Given the description of an element on the screen output the (x, y) to click on. 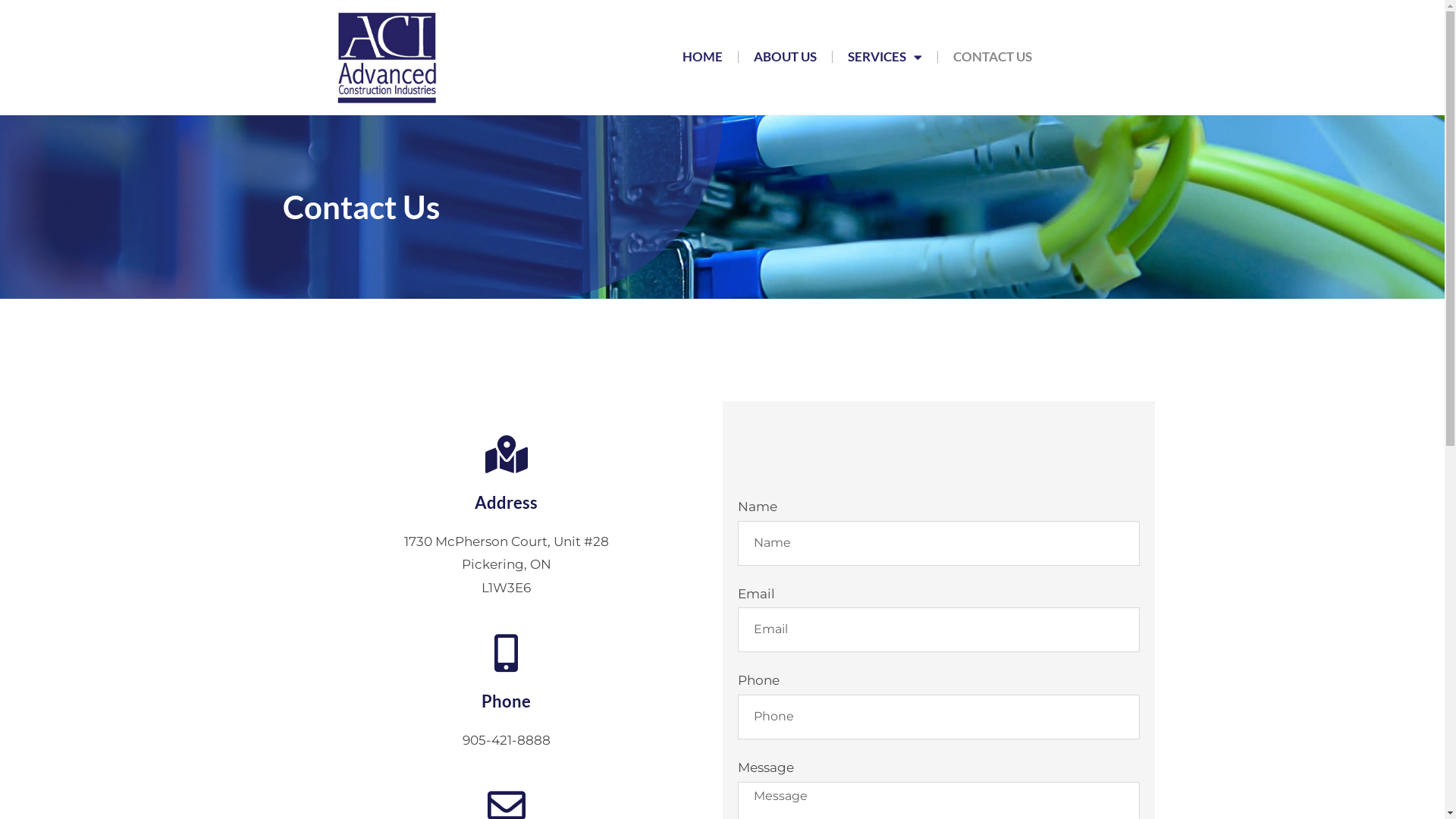
CONTACT US Element type: text (992, 56)
HOME Element type: text (702, 56)
ABOUT US Element type: text (784, 56)
SERVICES Element type: text (884, 56)
